Given the description of an element on the screen output the (x, y) to click on. 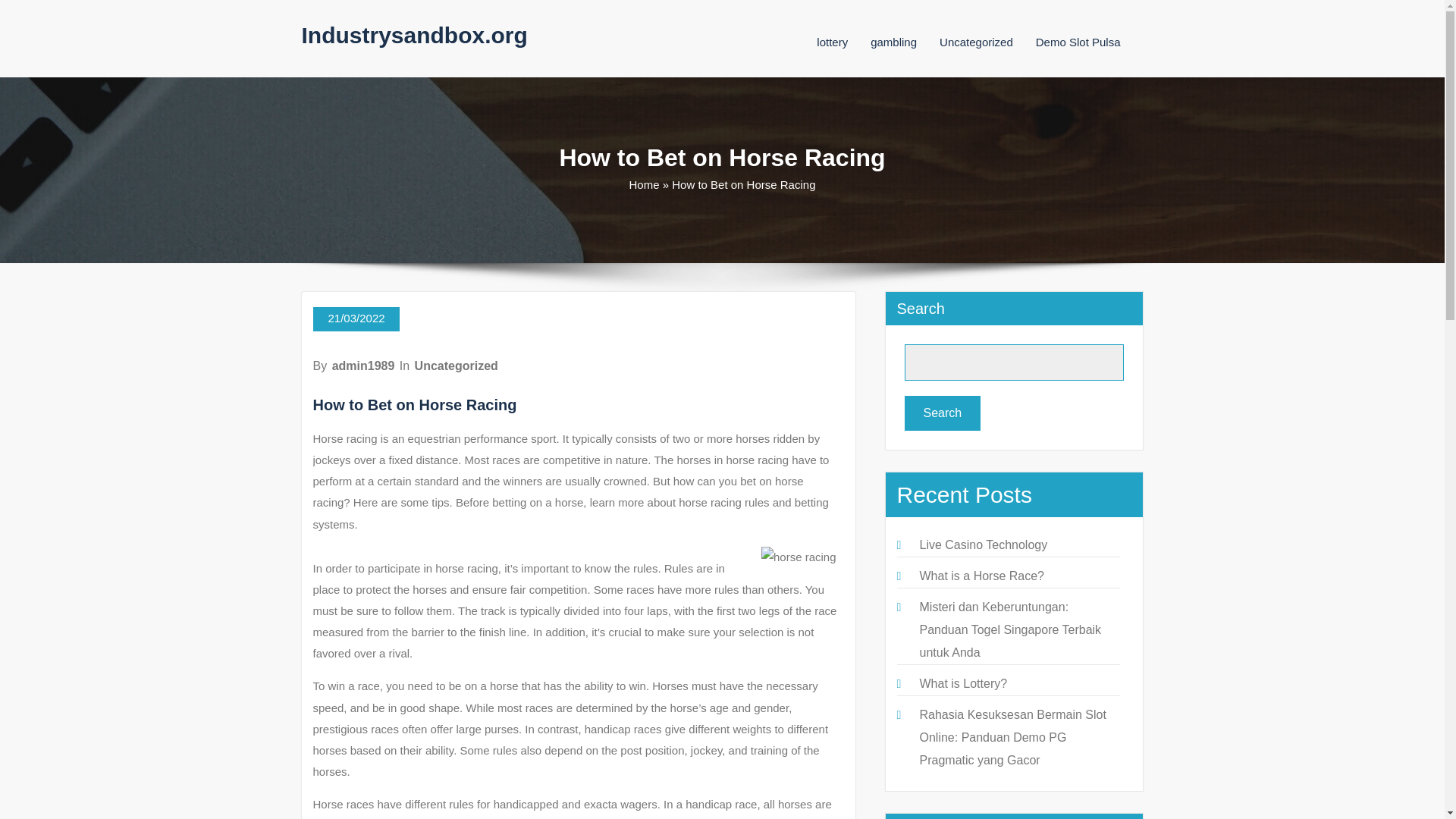
Live Casino Technology (982, 544)
Search (941, 412)
lottery (831, 41)
Uncategorized (976, 41)
gambling (893, 41)
Demo Slot Pulsa (1078, 41)
What is a Horse Race? (980, 575)
Industrysandbox.org (414, 34)
admin1989 (363, 365)
Uncategorized (456, 365)
What is Lottery? (962, 683)
Home (643, 184)
